Given the description of an element on the screen output the (x, y) to click on. 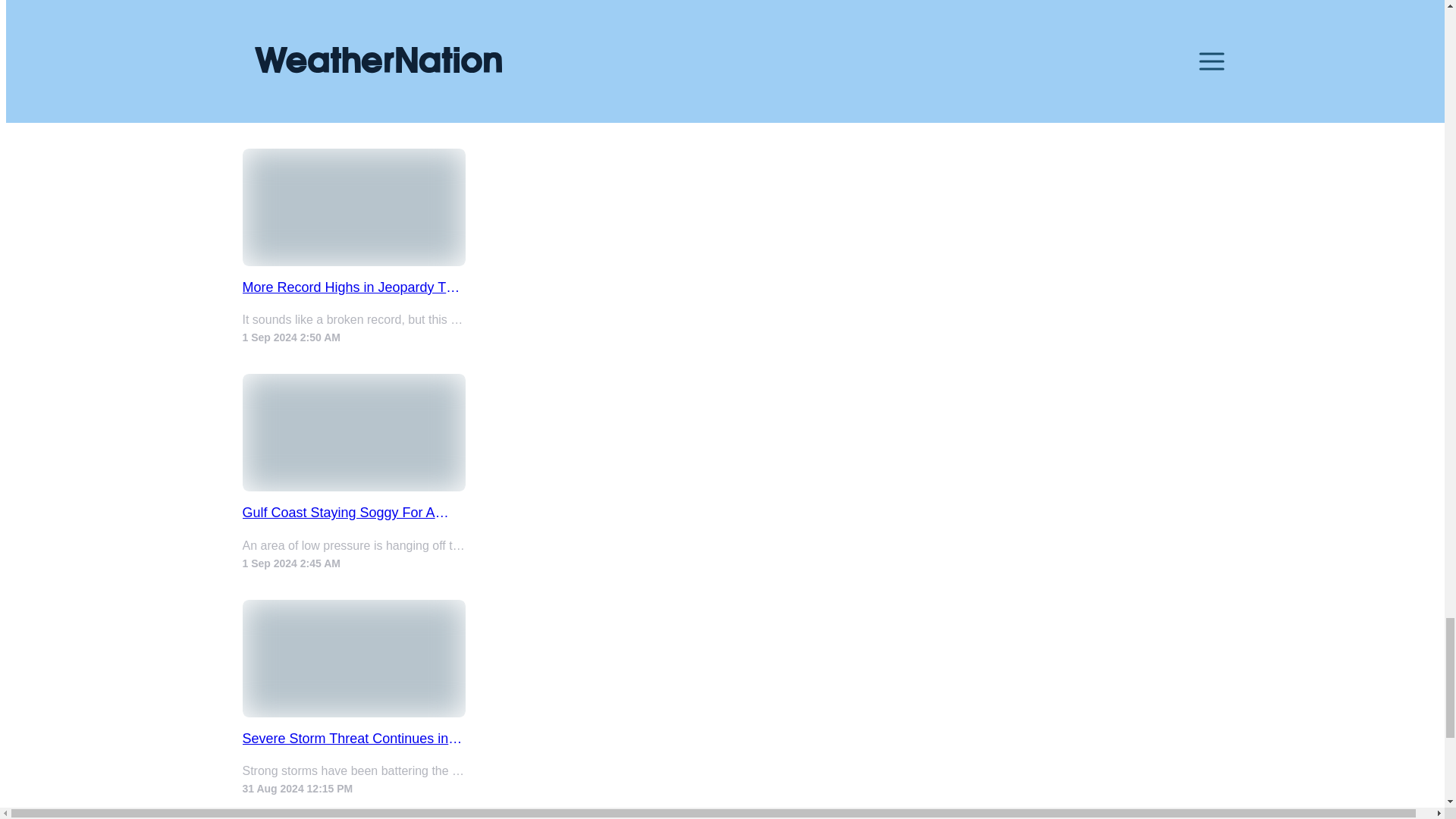
Gulf Coast Staying Soggy For A While (354, 512)
Severe Storm Threat Continues in the Midwest (354, 738)
More Record Highs in Jeopardy This Week (354, 287)
Happy Labor Day Weekend! Here's Our Forecast (354, 62)
